Given the description of an element on the screen output the (x, y) to click on. 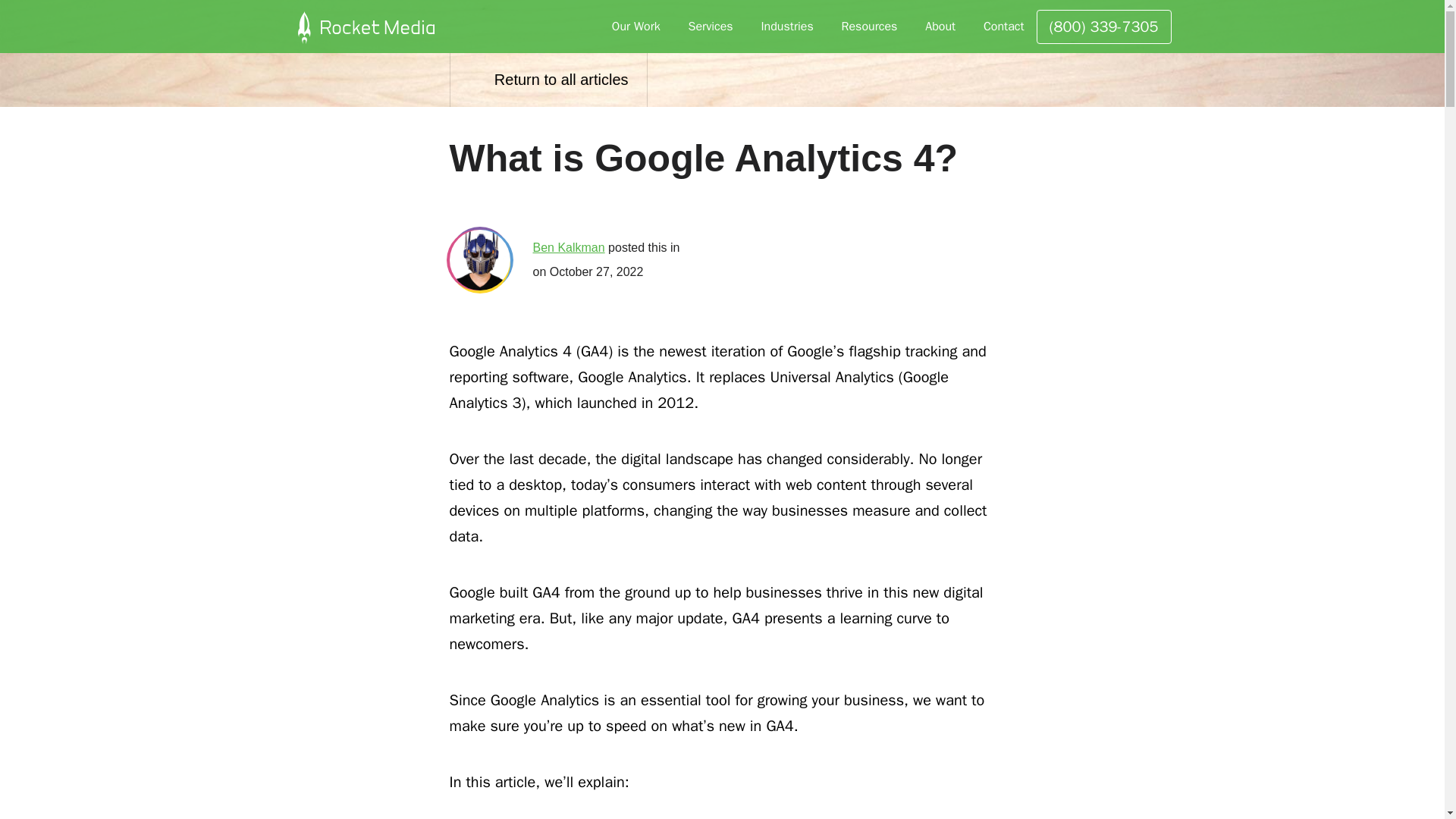
Our Work (643, 26)
Services (718, 26)
